Given the description of an element on the screen output the (x, y) to click on. 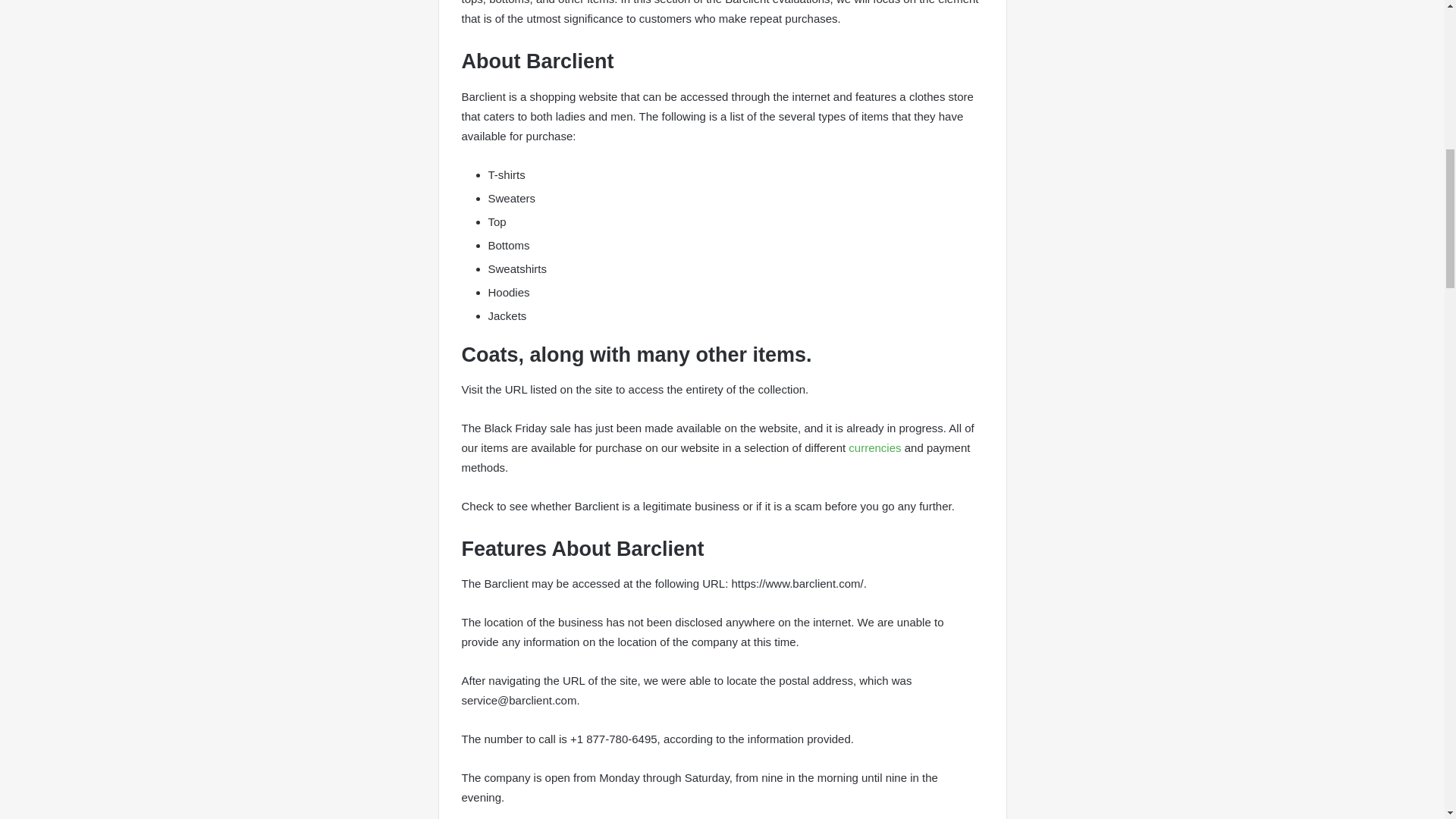
currencies (874, 447)
